Given the description of an element on the screen output the (x, y) to click on. 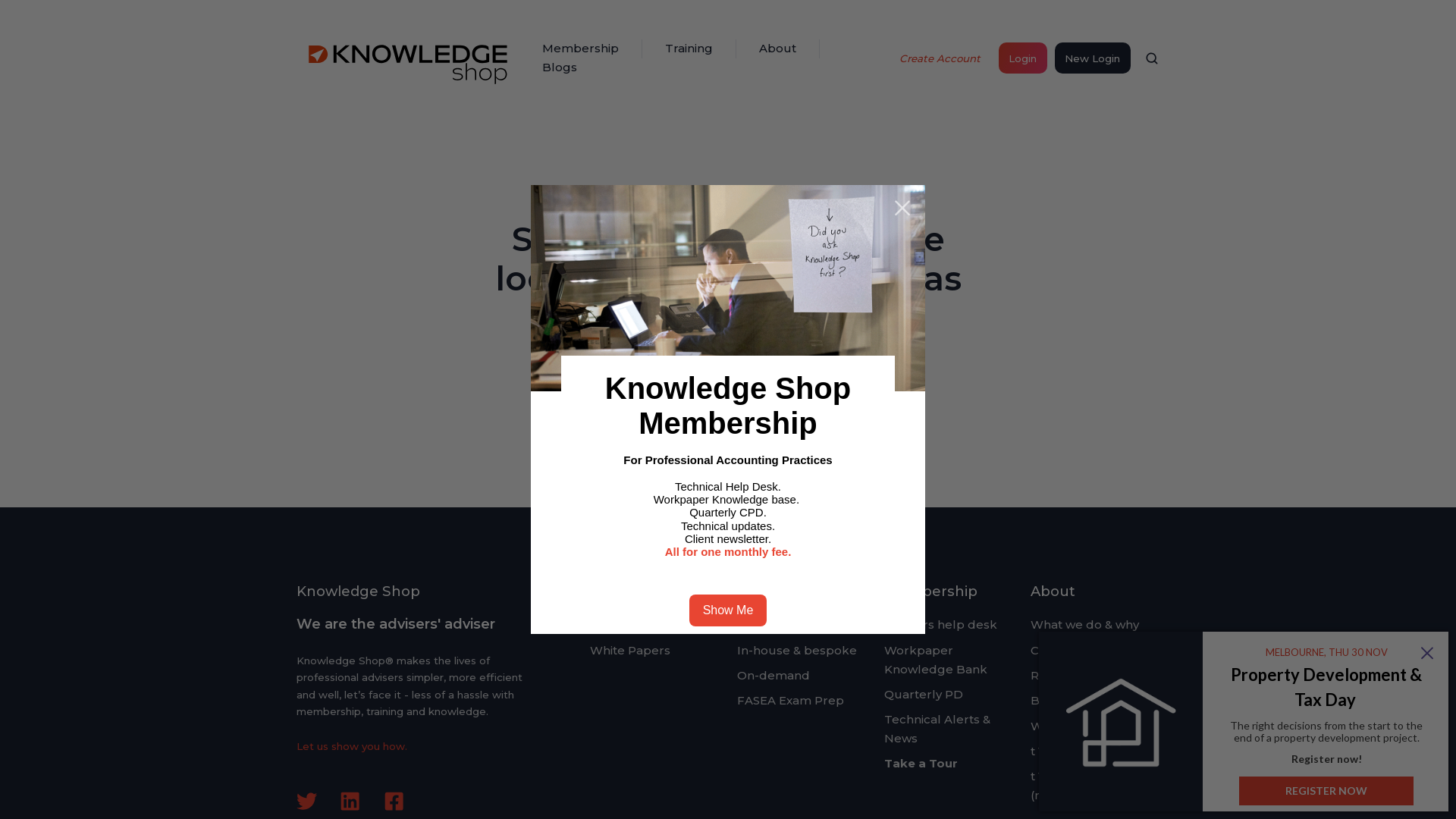
Create Account Element type: text (939, 57)
Quarterly PD Element type: text (923, 694)
Blogs Element type: text (559, 67)
Advisers help desk Element type: text (940, 624)
Blog Element type: text (603, 624)
Work with us Element type: text (1068, 725)
Read our Linkedin Posts Element type: text (349, 800)
Membership Element type: text (930, 590)
Contact us Element type: text (1062, 650)
What we do & why Element type: text (1084, 624)
Take a Tour Element type: text (920, 763)
About Element type: text (777, 48)
Training Element type: text (688, 48)
FASEA Exam Prep Element type: text (790, 700)
White Papers Element type: text (629, 650)
Technical Alerts & News Element type: text (937, 728)
About Element type: text (1052, 590)
Knowledge Element type: text (630, 590)
Go Back to Homepage Element type: text (727, 414)
Training Element type: text (766, 590)
Read our Twitter feed Element type: text (306, 800)
Membership Element type: text (580, 48)
Knowledge Shop Element type: hover (410, 57)
Login Element type: text (1021, 57)
In-house & bespoke Element type: text (796, 650)
Refunds Element type: text (1055, 675)
Workpaper Knowledge Bank Element type: text (935, 659)
New Login Element type: text (1092, 57)
Board Element type: text (1048, 700)
On-demand Element type: text (773, 675)
Coming Up Element type: text (770, 624)
